Given the description of an element on the screen output the (x, y) to click on. 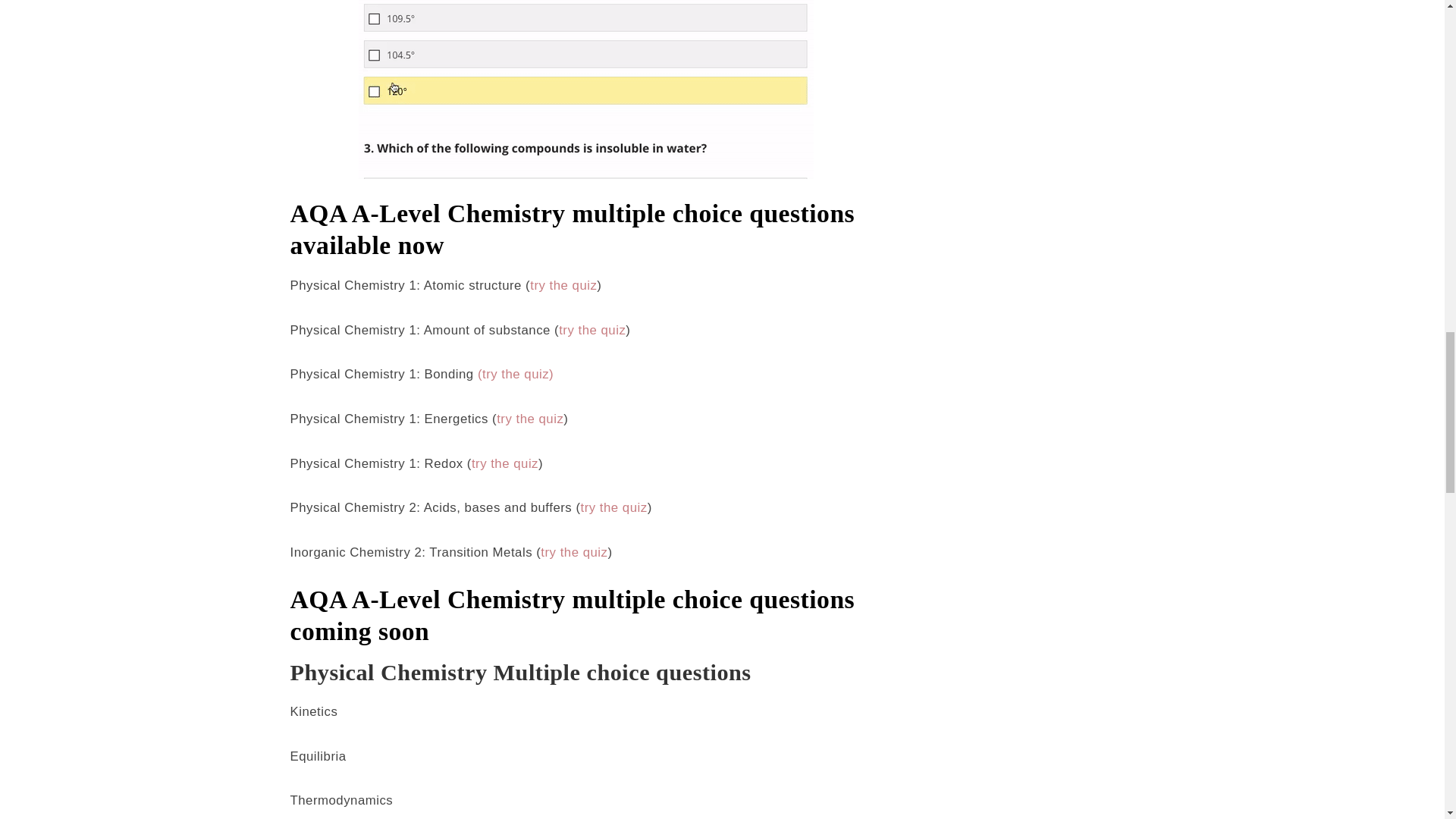
try the quiz (529, 418)
try the quiz (504, 463)
try the quiz (612, 507)
try the quiz (592, 329)
try the quiz (562, 285)
try the quiz (573, 552)
